Given the description of an element on the screen output the (x, y) to click on. 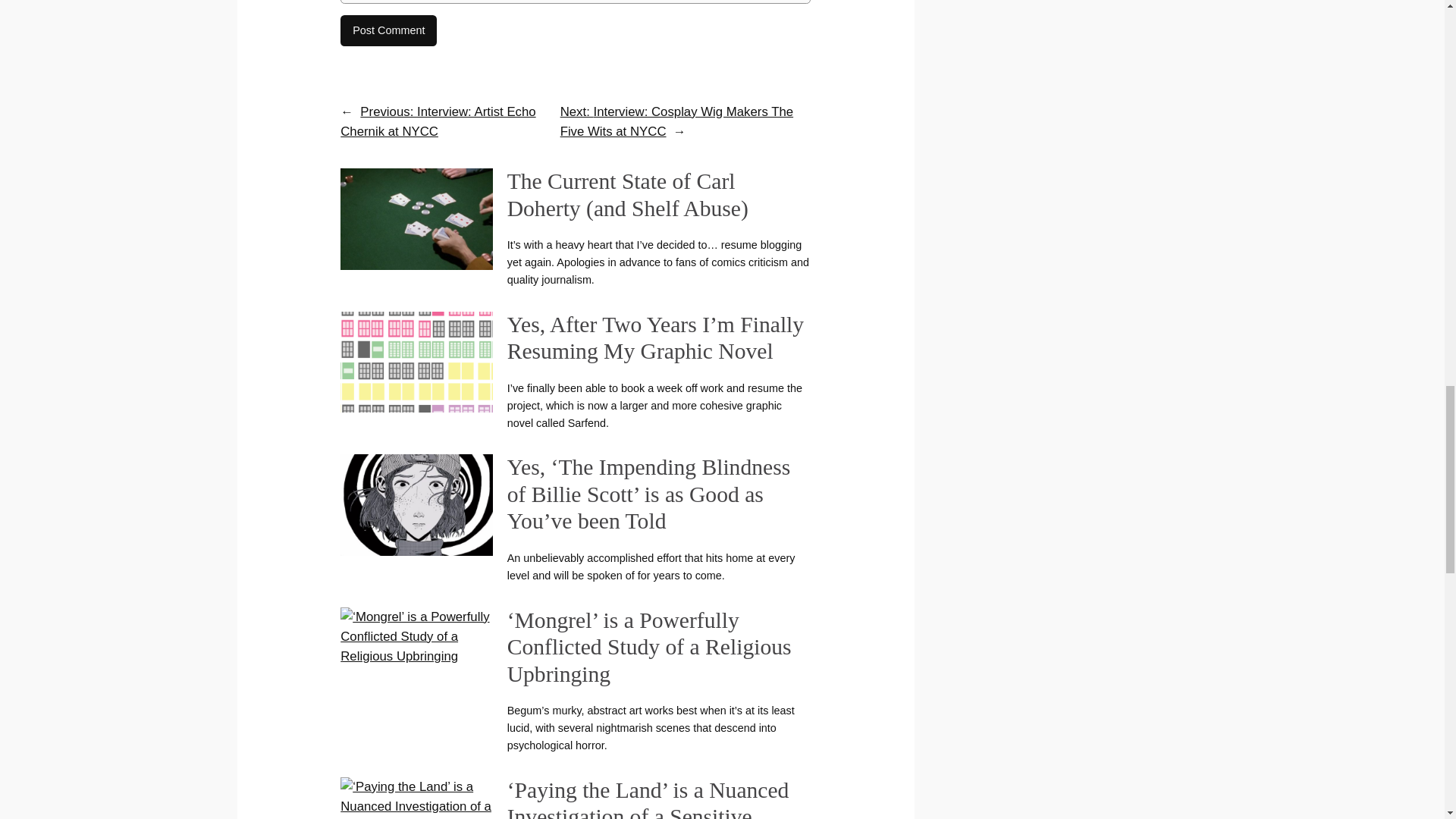
Previous: Interview: Artist Echo Chernik at NYCC (437, 121)
Post Comment (388, 30)
Post Comment (388, 30)
